Given the description of an element on the screen output the (x, y) to click on. 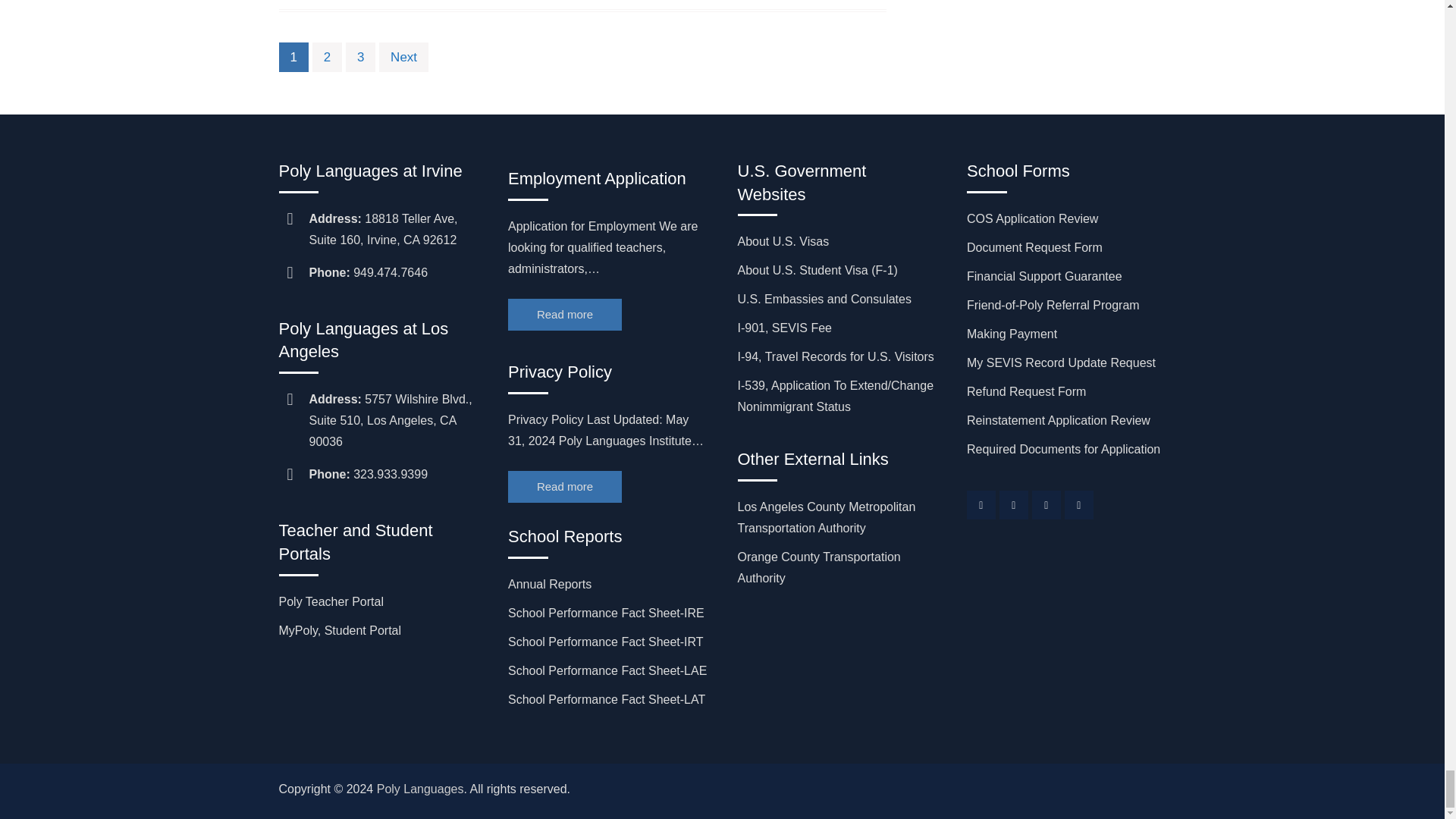
YouTube (1078, 504)
LinkedIn (1046, 504)
Facebook (980, 504)
Instagram (1012, 504)
